Given the description of an element on the screen output the (x, y) to click on. 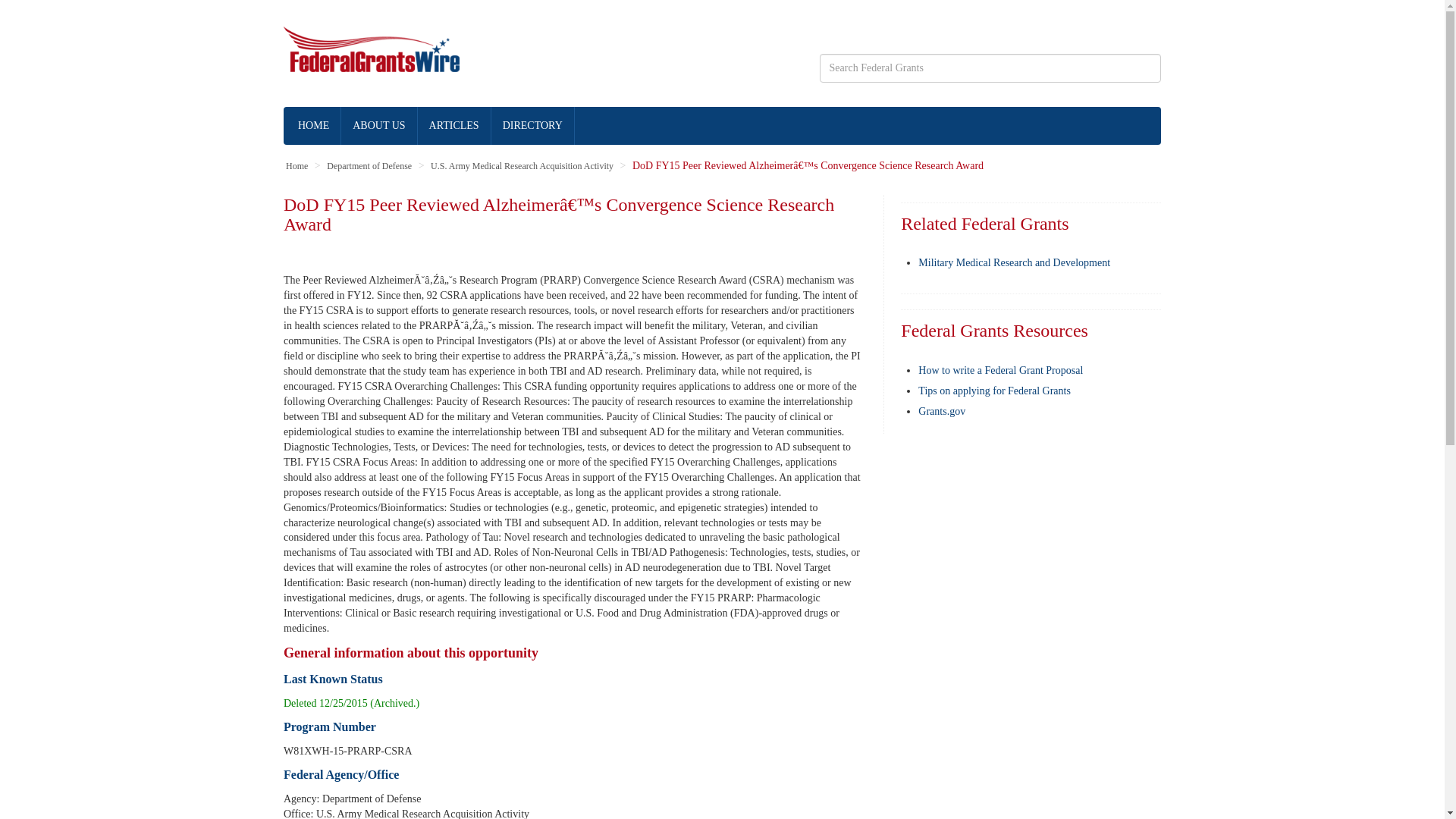
ABOUT US (378, 125)
Home (296, 165)
HOME (313, 125)
Military Medical Research and Development (1013, 262)
DIRECTORY (533, 125)
Grants.gov (941, 410)
Tips on applying for Federal Grants (994, 390)
U.S. Army Medical Research Acquisition Activity (521, 165)
ARTICLES (454, 125)
How to write a Federal Grant Proposal (1000, 369)
